Given the description of an element on the screen output the (x, y) to click on. 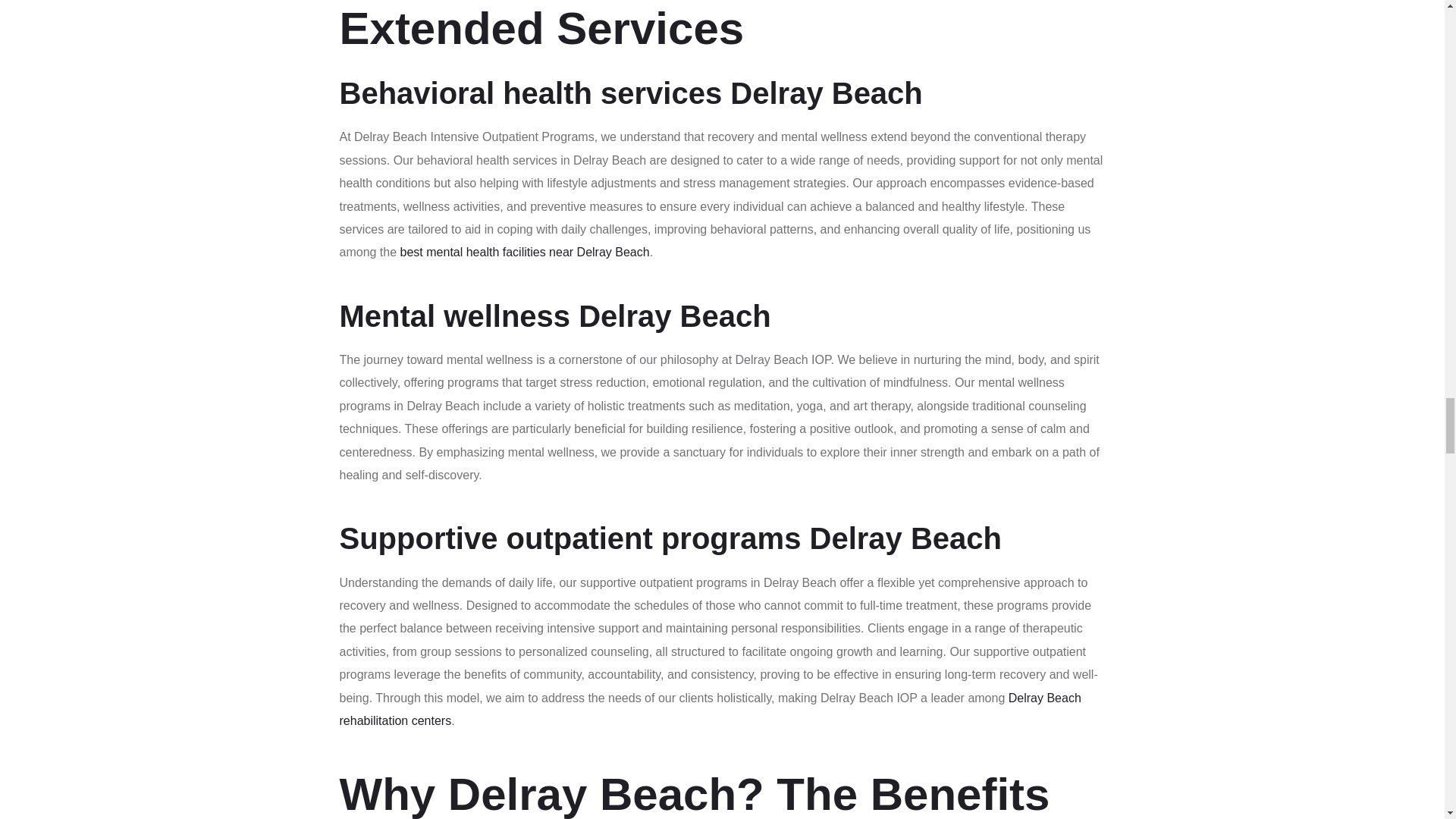
Delray Beach rehabilitation centers (710, 709)
best mental health facilities near Delray Beach (524, 251)
